Given the description of an element on the screen output the (x, y) to click on. 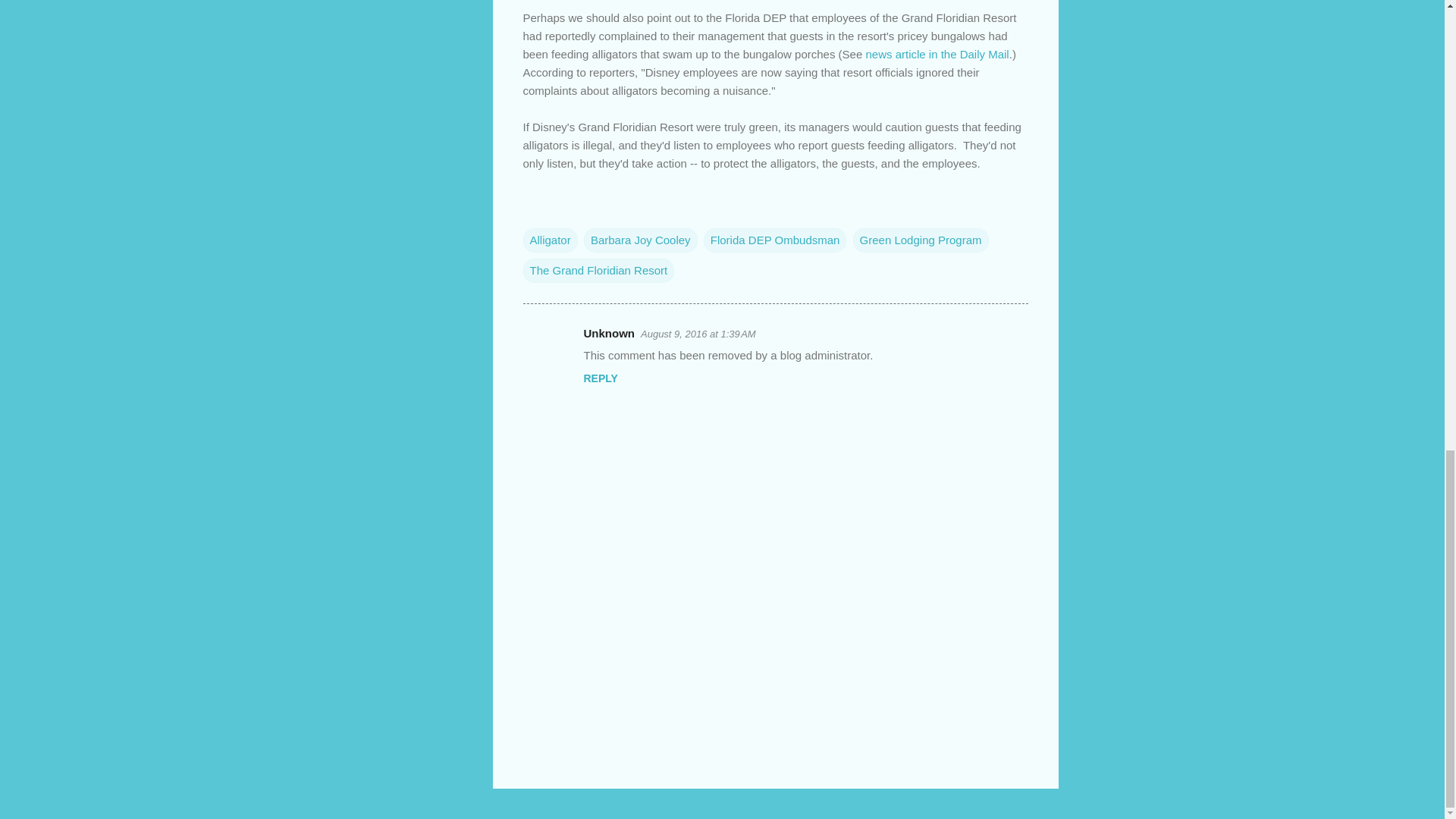
Unknown (608, 332)
The Grand Floridian Resort (598, 270)
Green Lodging Program (920, 240)
Alligator (550, 240)
news article in the Daily Mail (936, 53)
Barbara Joy Cooley (640, 240)
REPLY (600, 378)
Florida DEP Ombudsman (775, 240)
